Given the description of an element on the screen output the (x, y) to click on. 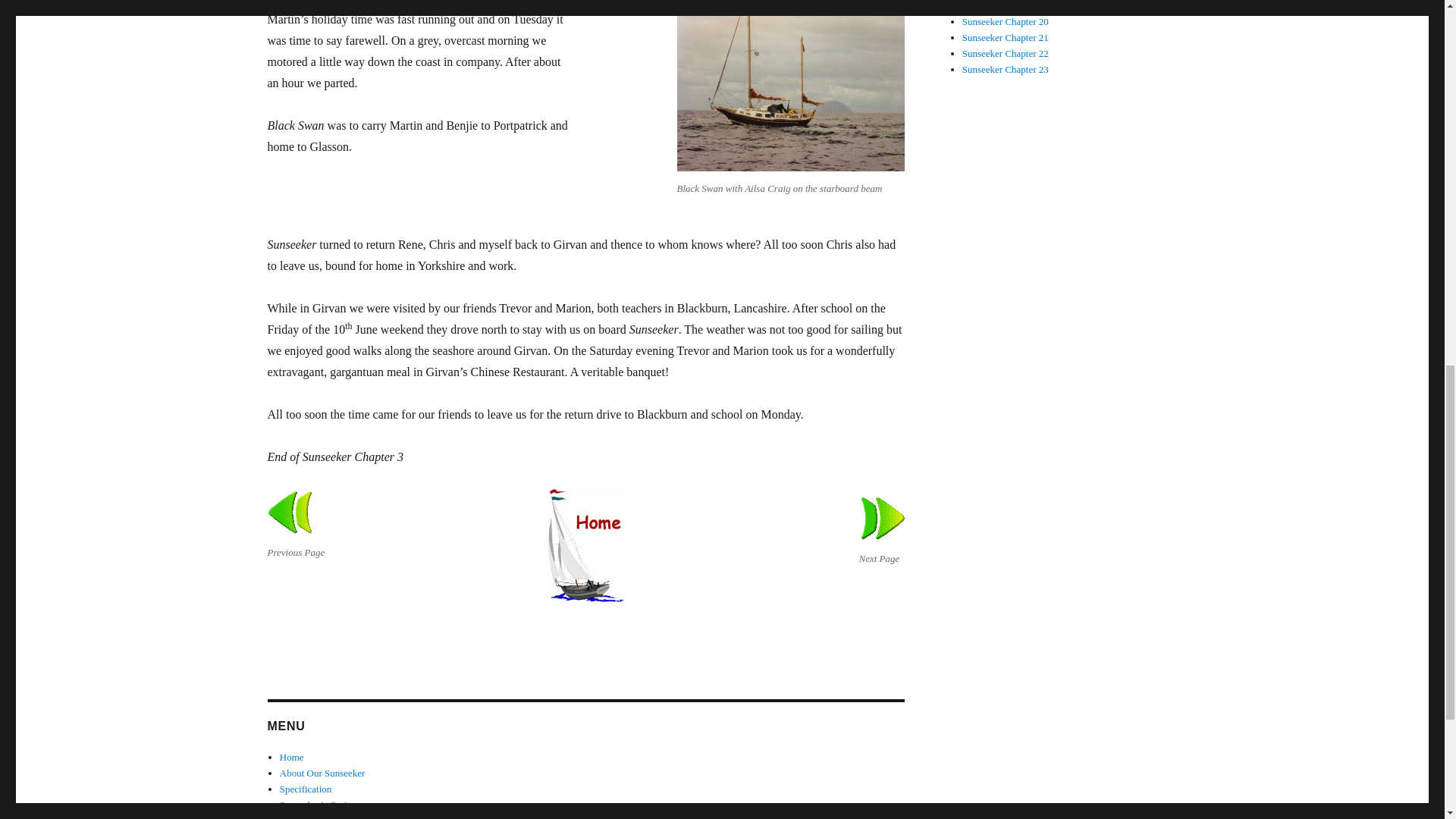
The Prologue (318, 816)
Home (291, 756)
About Our Sunseeker (322, 772)
Black Swan with Ailsa Craig on the starboard beam (790, 93)
Specification (305, 788)
